Given the description of an element on the screen output the (x, y) to click on. 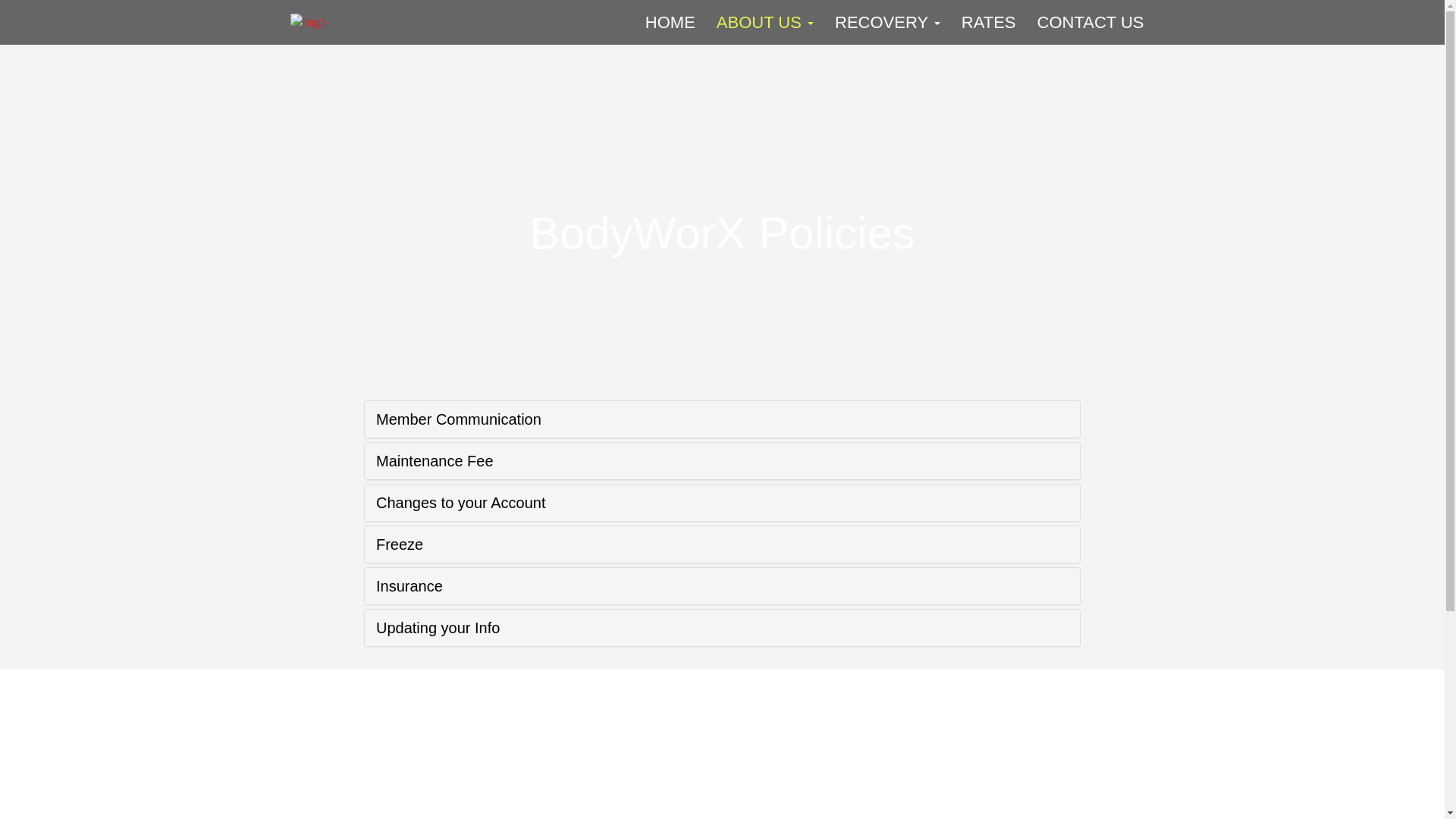
Insurance (408, 586)
Updating your Info (437, 627)
Maintenance Fee (434, 460)
Changes to your Account (459, 502)
RATES (988, 22)
CONTACT US (1090, 22)
HOME (670, 22)
Freeze (399, 544)
ABOUT US (765, 22)
RECOVERY (887, 22)
